Given the description of an element on the screen output the (x, y) to click on. 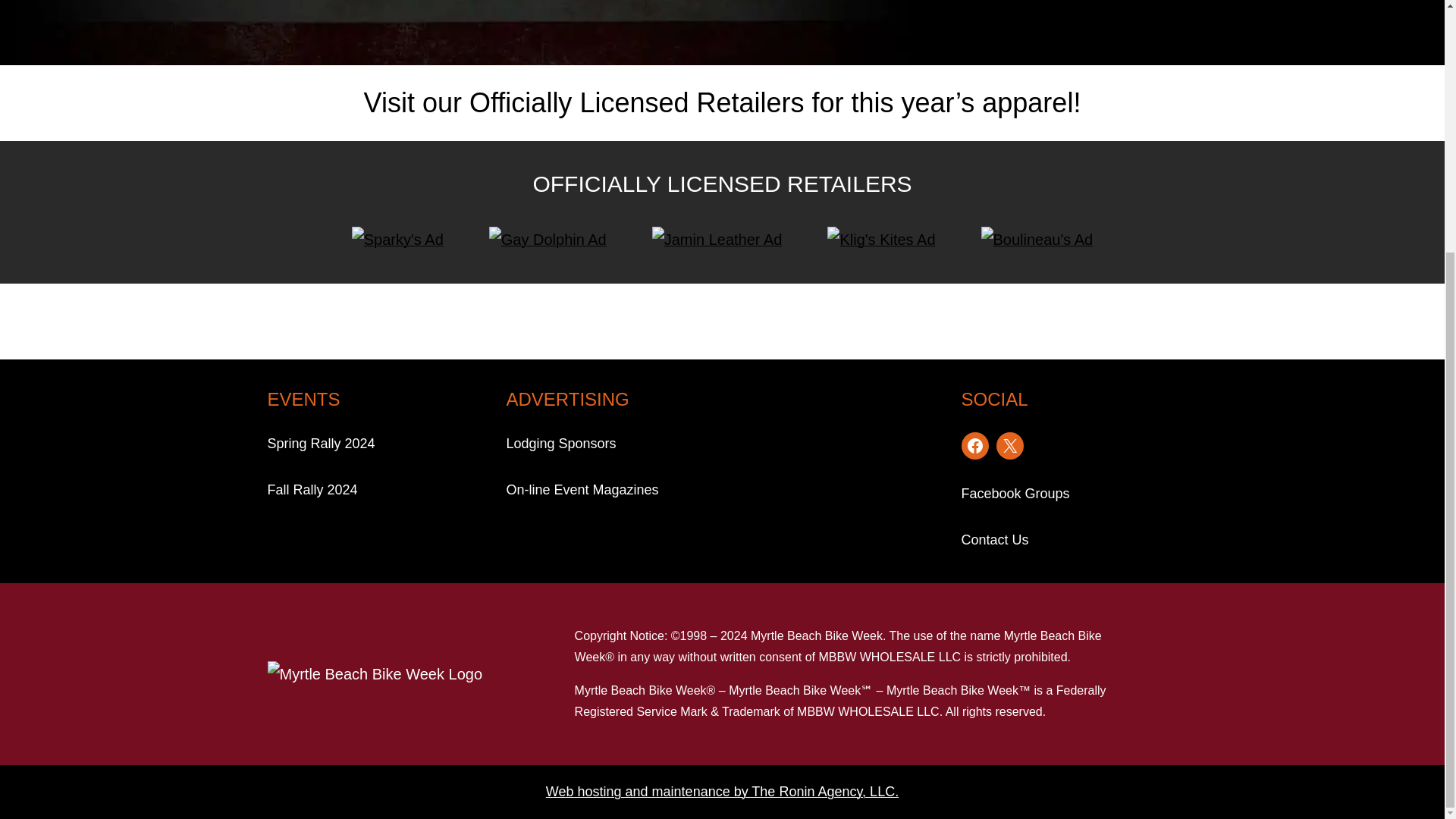
Fall Rally 2024 (311, 490)
X (1009, 445)
On-line Event Magazines (582, 490)
Contact Us (994, 540)
Spring Rally 2024 (320, 444)
Web hosting and maintenance by The Ronin Agency, LLC. (722, 791)
Lodging Sponsors (560, 444)
Facebook (974, 445)
Facebook Groups (1015, 494)
